Given the description of an element on the screen output the (x, y) to click on. 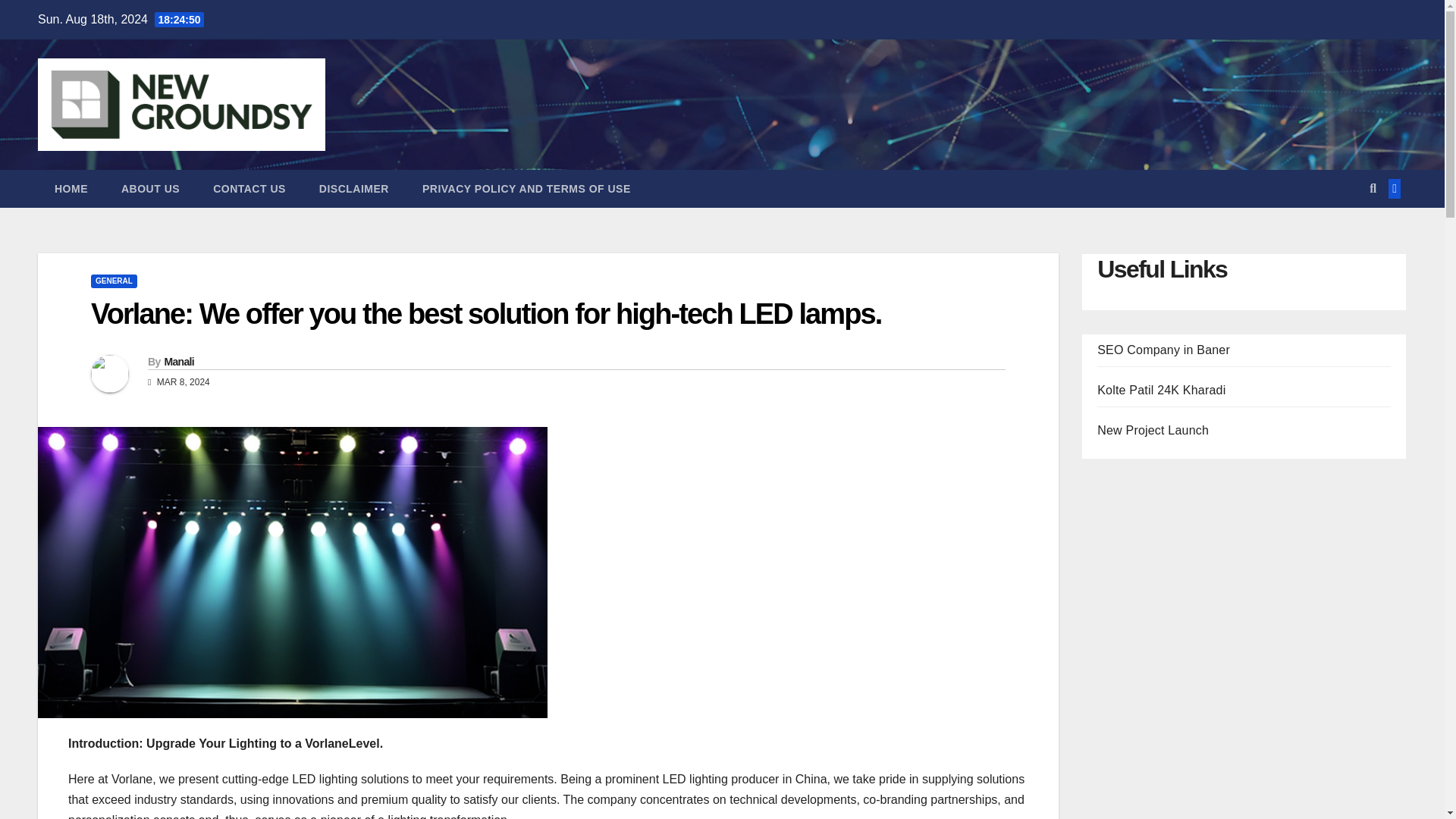
HOME (70, 188)
GENERAL (113, 281)
Home (70, 188)
DISCLAIMER (354, 188)
ABOUT US (150, 188)
CONTACT US (249, 188)
Manali (178, 361)
PRIVACY POLICY AND TERMS OF USE (526, 188)
